Given the description of an element on the screen output the (x, y) to click on. 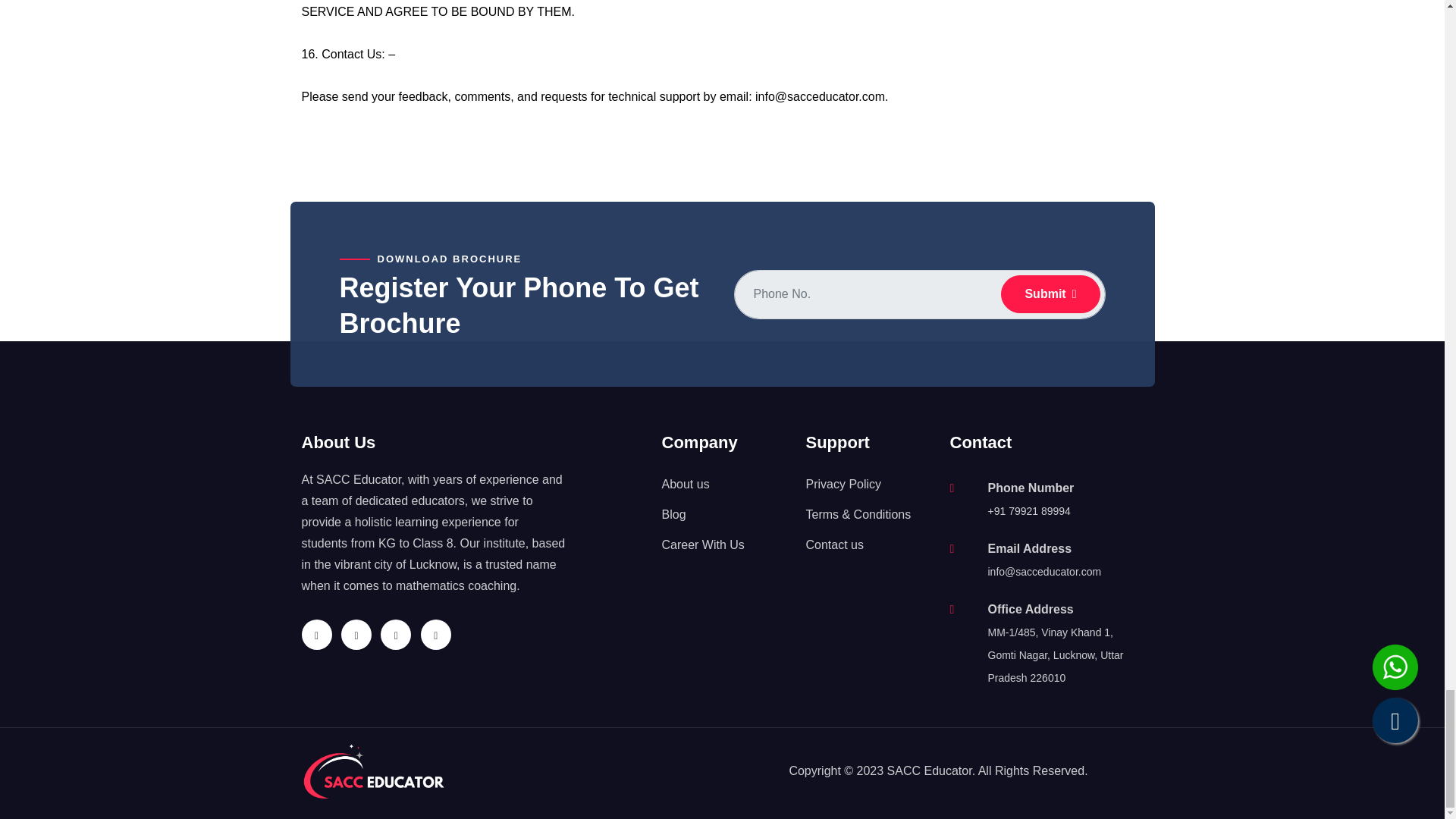
Submit (1050, 293)
Blog (673, 513)
Career With Us (702, 544)
Privacy Policy (842, 483)
Contact us (834, 544)
About us (685, 483)
